Given the description of an element on the screen output the (x, y) to click on. 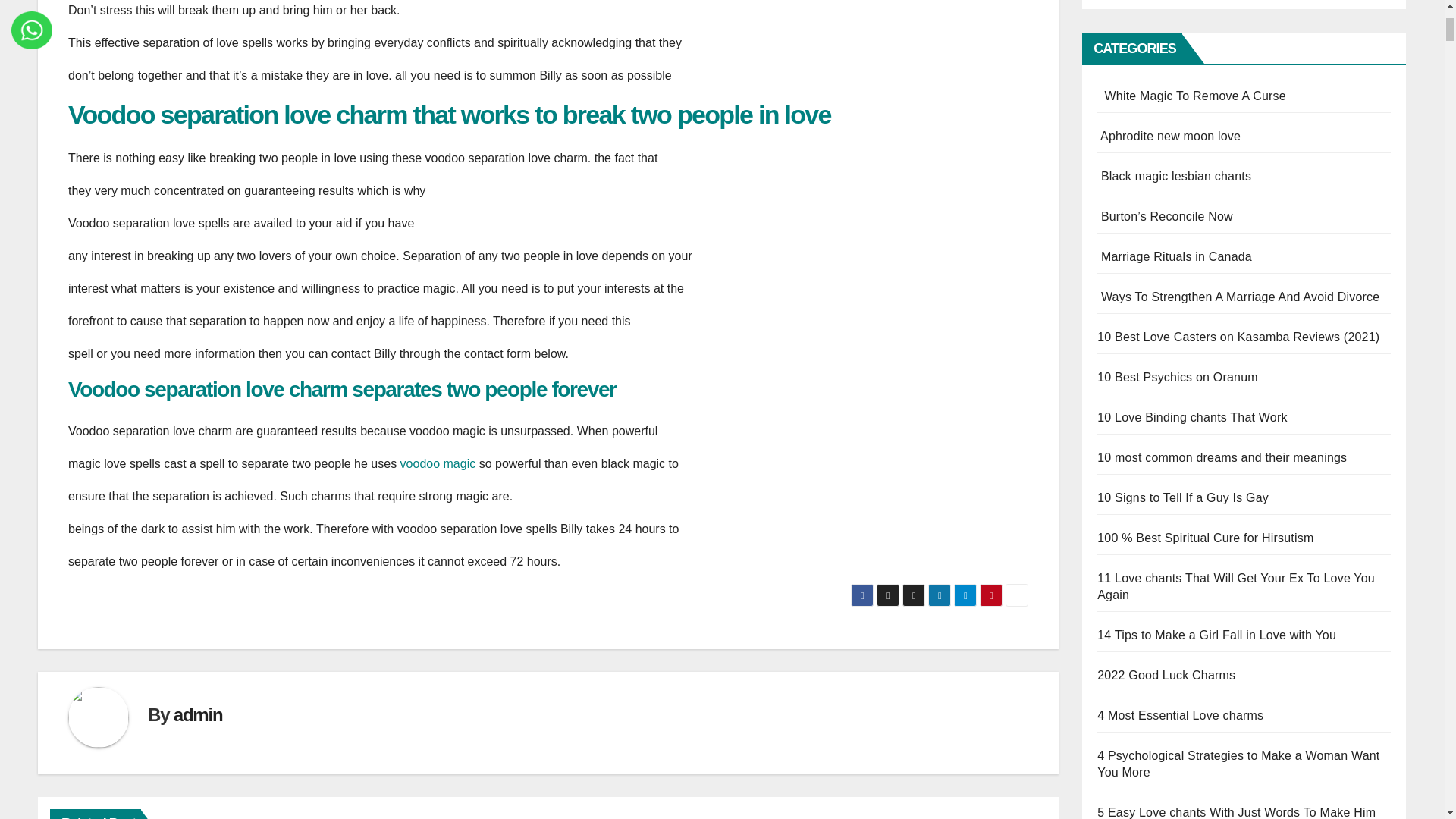
admin (197, 714)
Voodoo separation love charm separates two people forever (341, 389)
voodoo magic (438, 463)
